Given the description of an element on the screen output the (x, y) to click on. 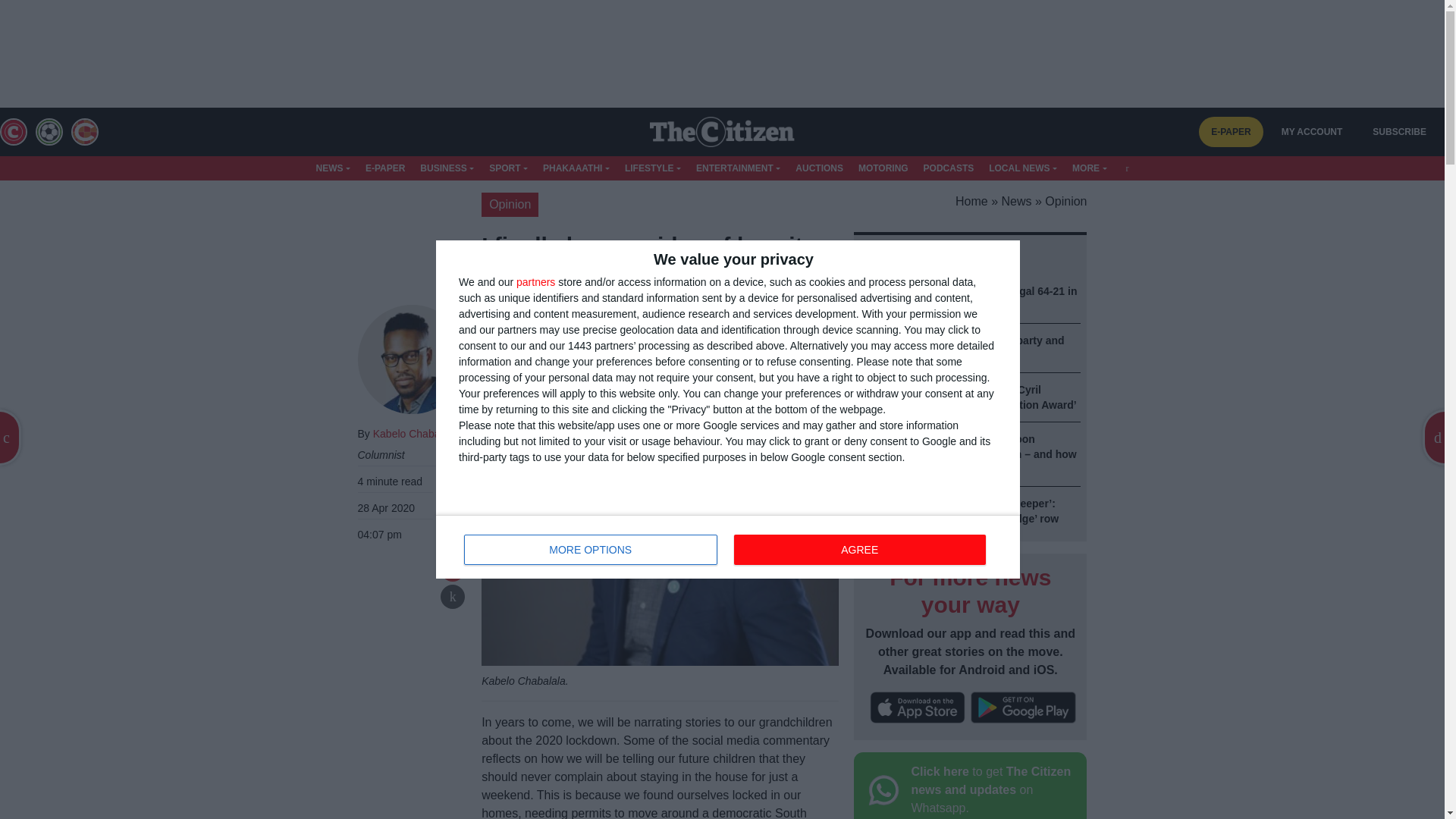
MORE OPTIONS (590, 549)
partners (535, 281)
AGREE (859, 549)
